Given the description of an element on the screen output the (x, y) to click on. 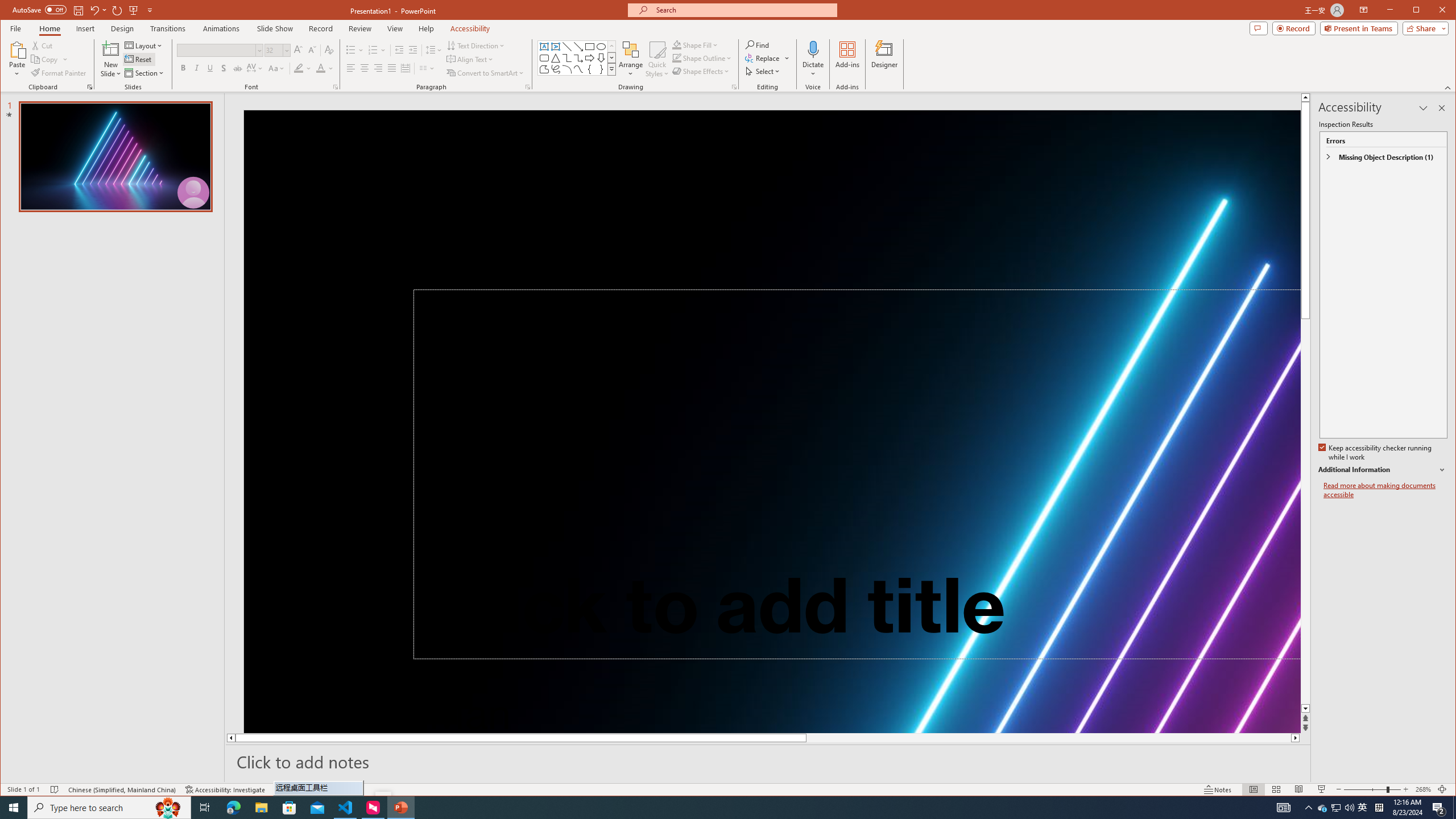
Format Object... (733, 86)
Running applications (1362, 807)
Freeform: Shape (700, 807)
Left Brace (1335, 807)
Microsoft search (544, 69)
Decrease Indent (589, 69)
Shape Outline (742, 10)
